Given the description of an element on the screen output the (x, y) to click on. 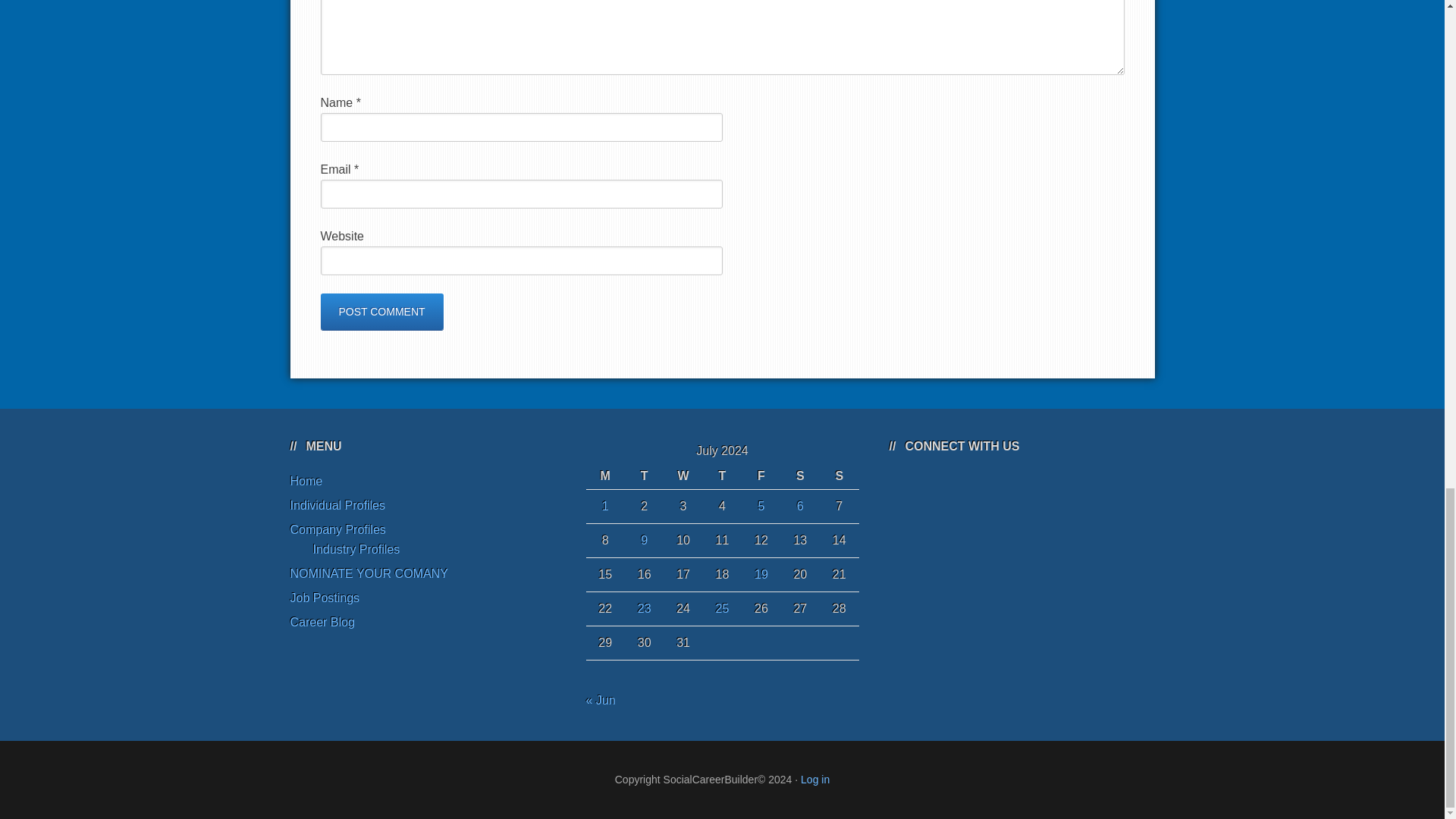
Saturday (799, 476)
9 (643, 540)
Friday (760, 476)
Job Postings (324, 597)
19 (761, 574)
Home (305, 481)
Visit Us On Facebook (1002, 486)
6 (799, 505)
Post Comment (381, 311)
Individual Profiles (336, 504)
25 (722, 608)
Tuesday (643, 476)
Company Profiles (337, 529)
1 (605, 505)
Thursday (722, 476)
